Given the description of an element on the screen output the (x, y) to click on. 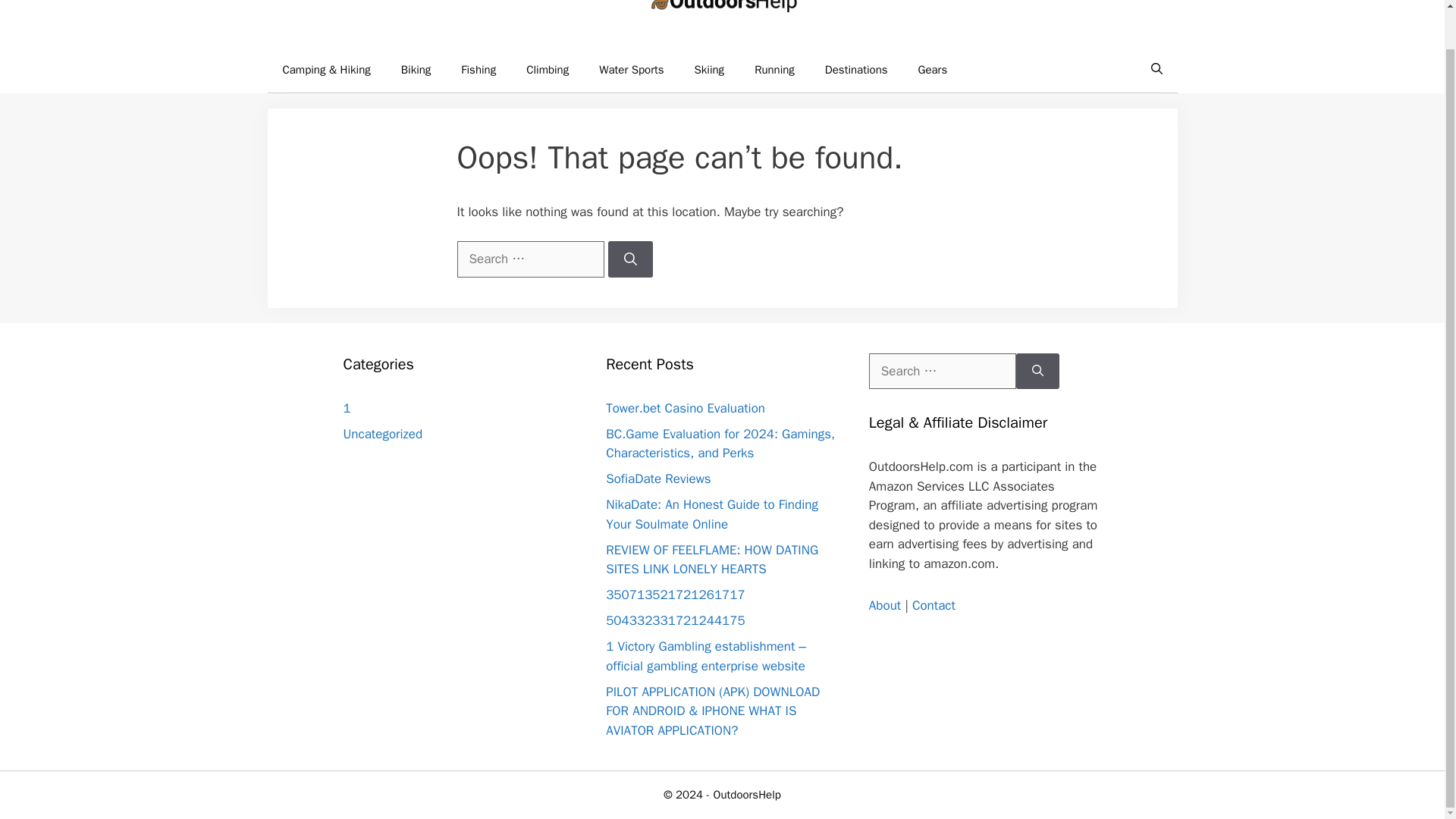
350713521721261717 (674, 594)
Running (774, 69)
Fishing (478, 69)
NikaDate: An Honest Guide to Finding Your Soulmate Online (711, 514)
Skiing (709, 69)
504332331721244175 (674, 620)
Tower.bet Casino Evaluation (685, 408)
Contact (933, 605)
Search for: (942, 370)
Gears (932, 69)
Uncategorized (382, 433)
Biking (415, 69)
Water Sports (630, 69)
About (885, 605)
